Given the description of an element on the screen output the (x, y) to click on. 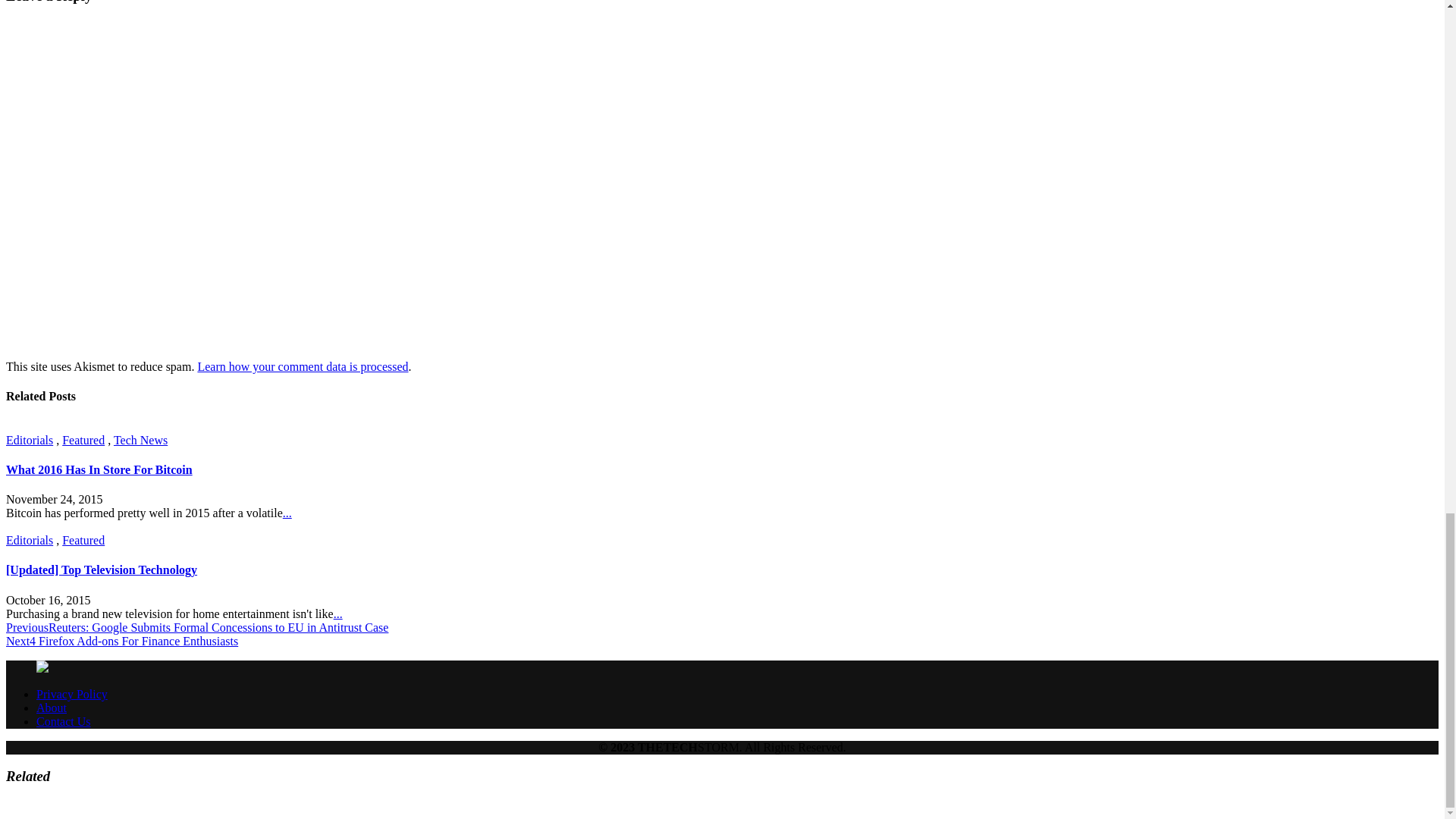
Editorials (28, 440)
About (51, 707)
Learn how your comment data is processed (301, 366)
Featured (83, 540)
Privacy Policy (71, 694)
What 2016 Has In Store For Bitcoin (98, 469)
Featured (83, 440)
Editorials (28, 540)
Tech News (140, 440)
